Given the description of an element on the screen output the (x, y) to click on. 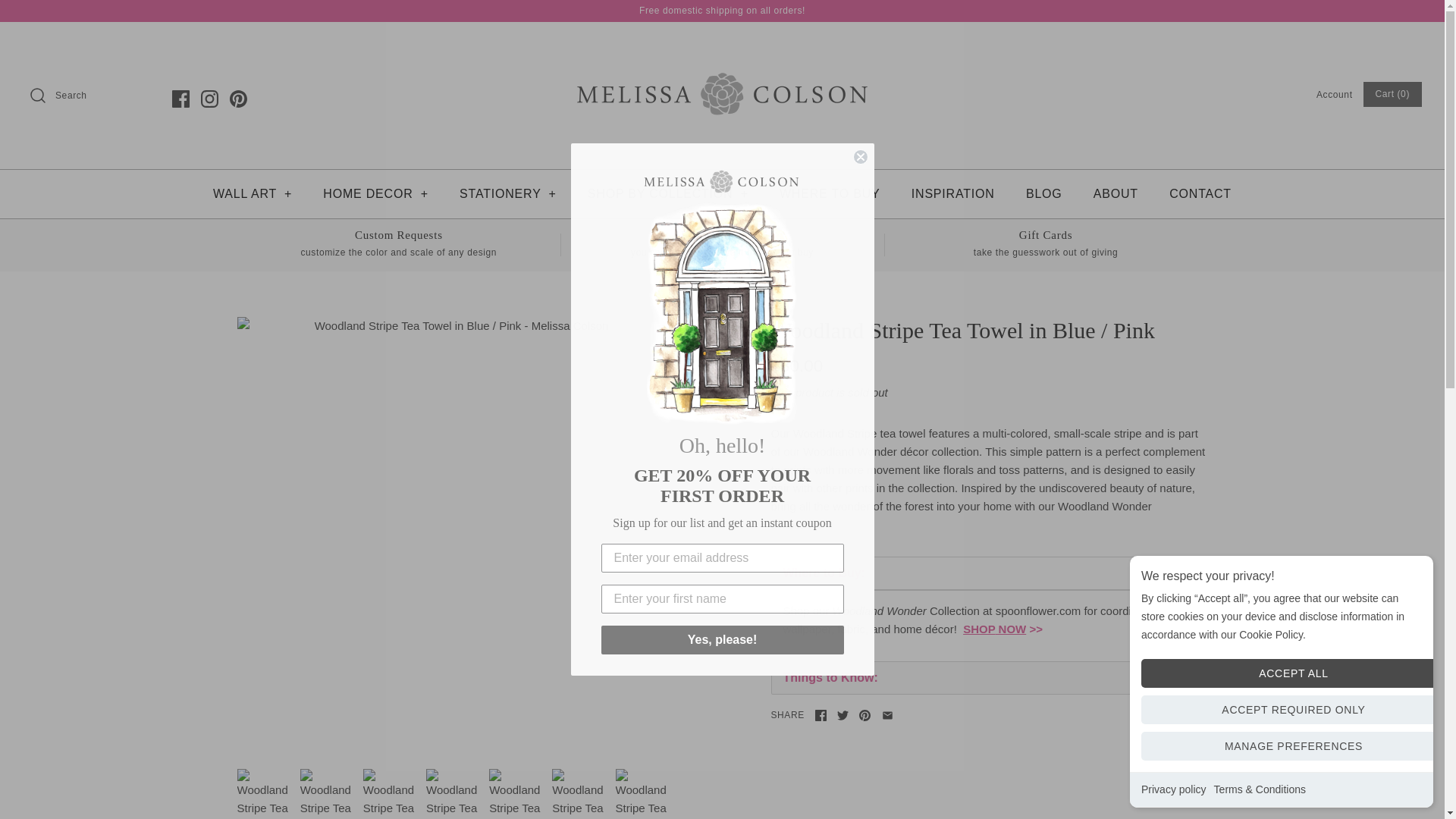
Facebook (180, 98)
Account (1334, 94)
Email (887, 715)
Pinterest (238, 98)
Pinterest (238, 98)
Instagram (209, 98)
Instagram (209, 98)
Facebook (180, 98)
Privacy policy (1174, 788)
Facebook (821, 715)
Facebook (180, 98)
Pinterest (238, 98)
Instagram (209, 98)
Twitter (842, 715)
Melissa Colson (721, 45)
